Given the description of an element on the screen output the (x, y) to click on. 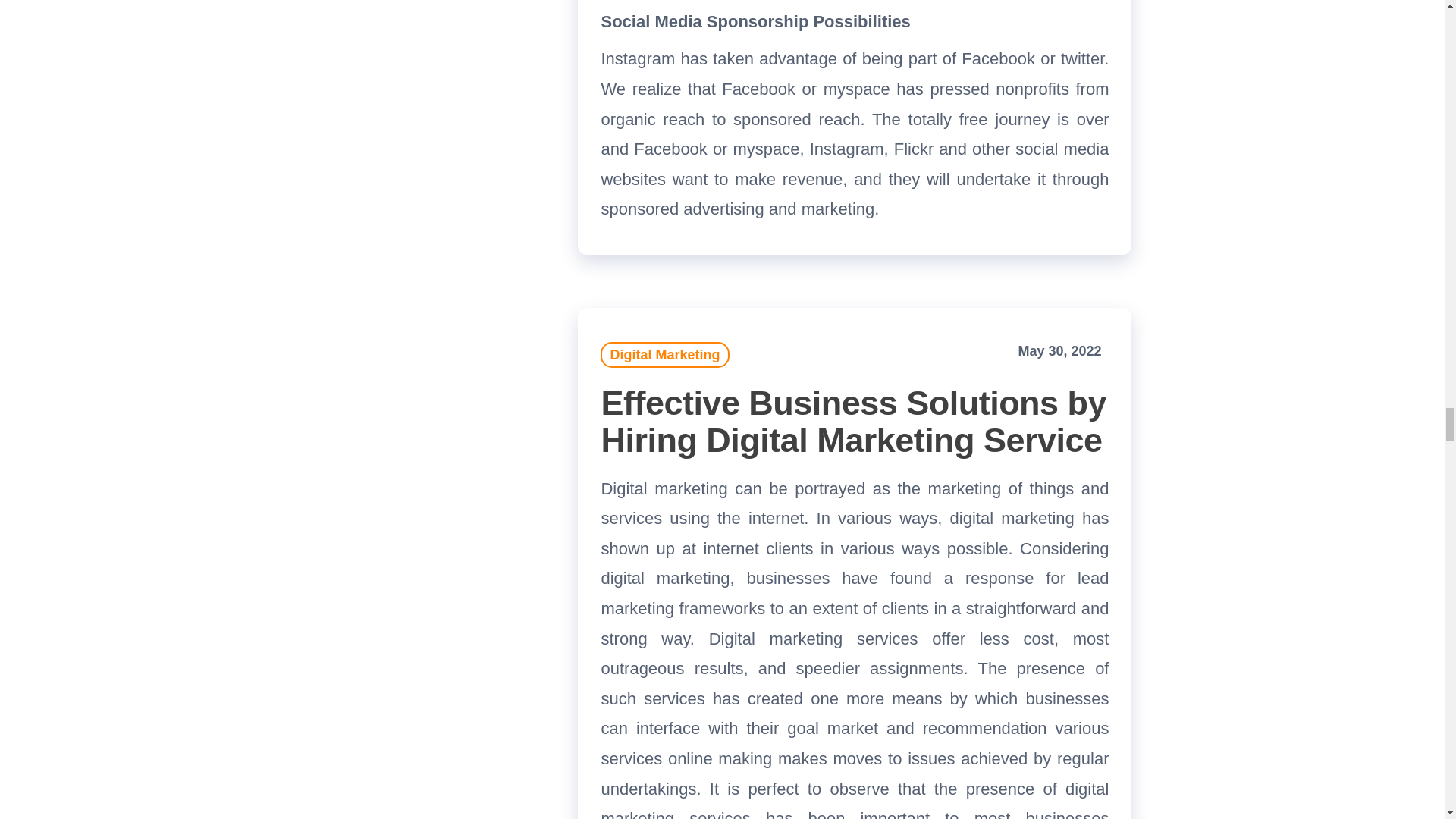
Digital Marketing (664, 354)
